Given the description of an element on the screen output the (x, y) to click on. 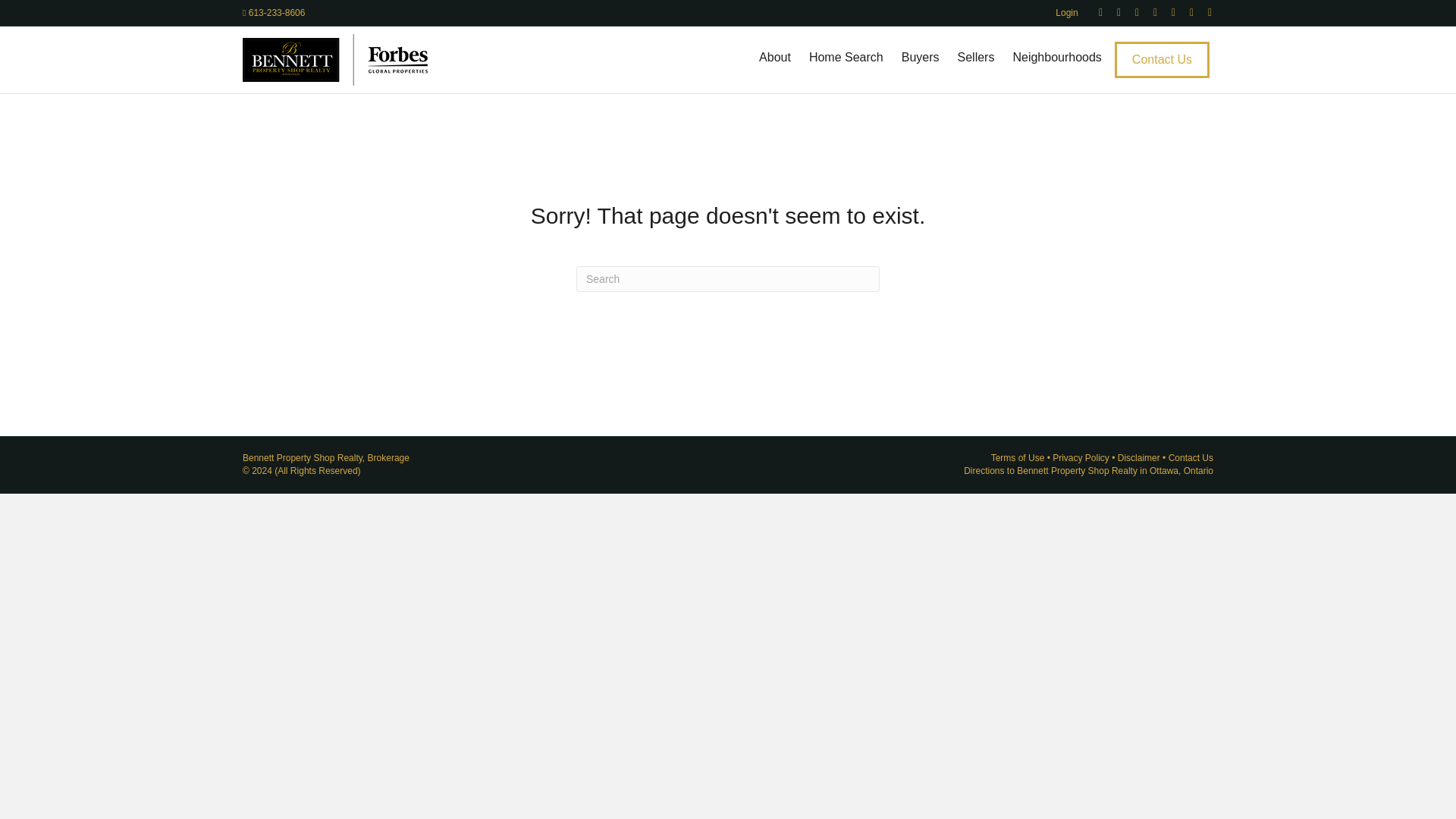
Pinterest (1147, 11)
Home Search (845, 56)
Instagram (1183, 11)
Linkedin (1129, 11)
About (774, 56)
Twitter (1111, 11)
Login (1066, 13)
613-233-8606 (273, 12)
Facebook (1093, 11)
Email (1202, 11)
